Given the description of an element on the screen output the (x, y) to click on. 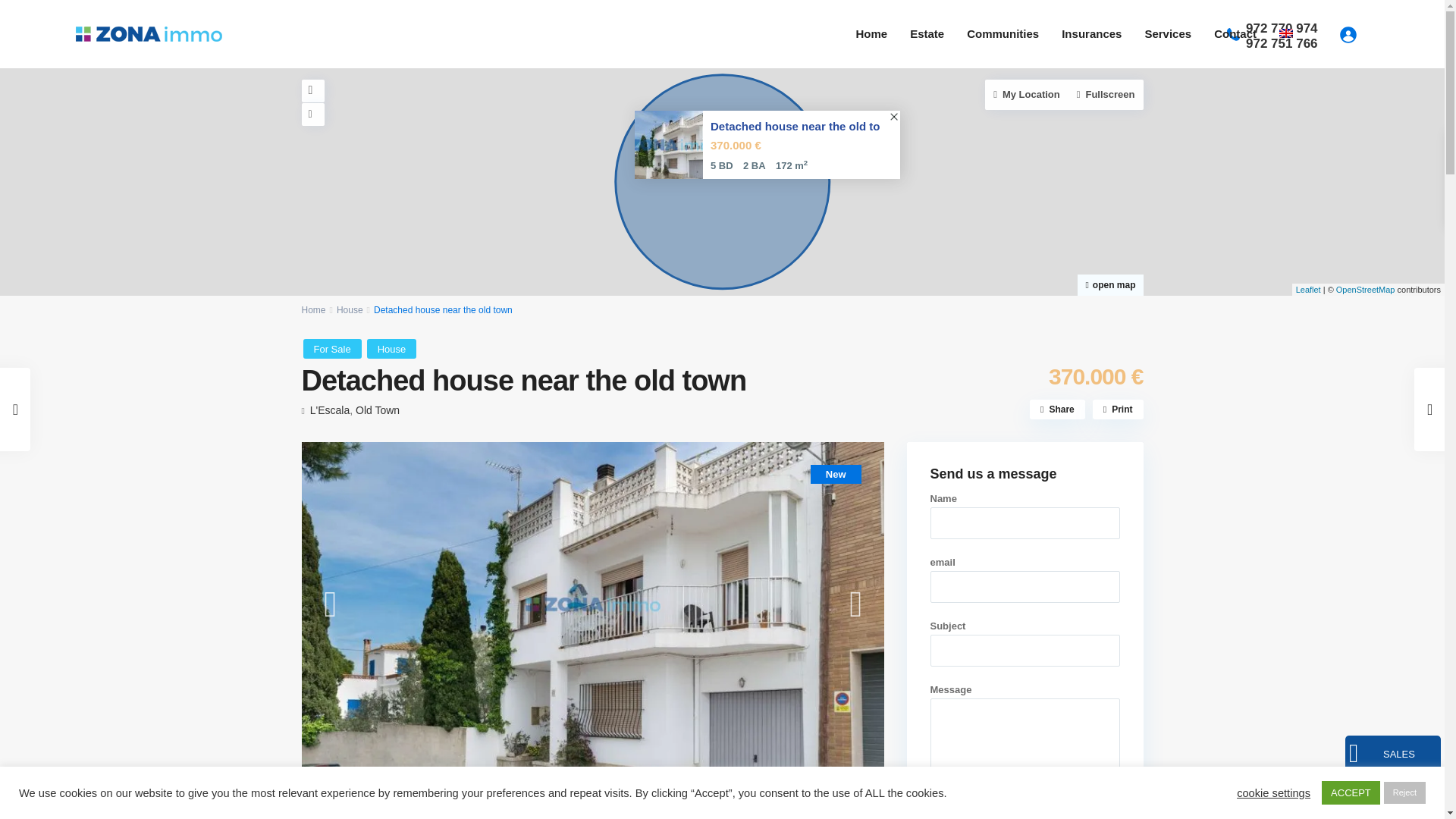
972 770 974 972 751 766 (1284, 36)
Insurances (1090, 33)
Estate (926, 33)
Communities (1002, 33)
Home (871, 33)
A JS library for interactive maps (1307, 289)
Detached house near the old to (791, 125)
Services (1167, 33)
Contact (1235, 33)
